Given the description of an element on the screen output the (x, y) to click on. 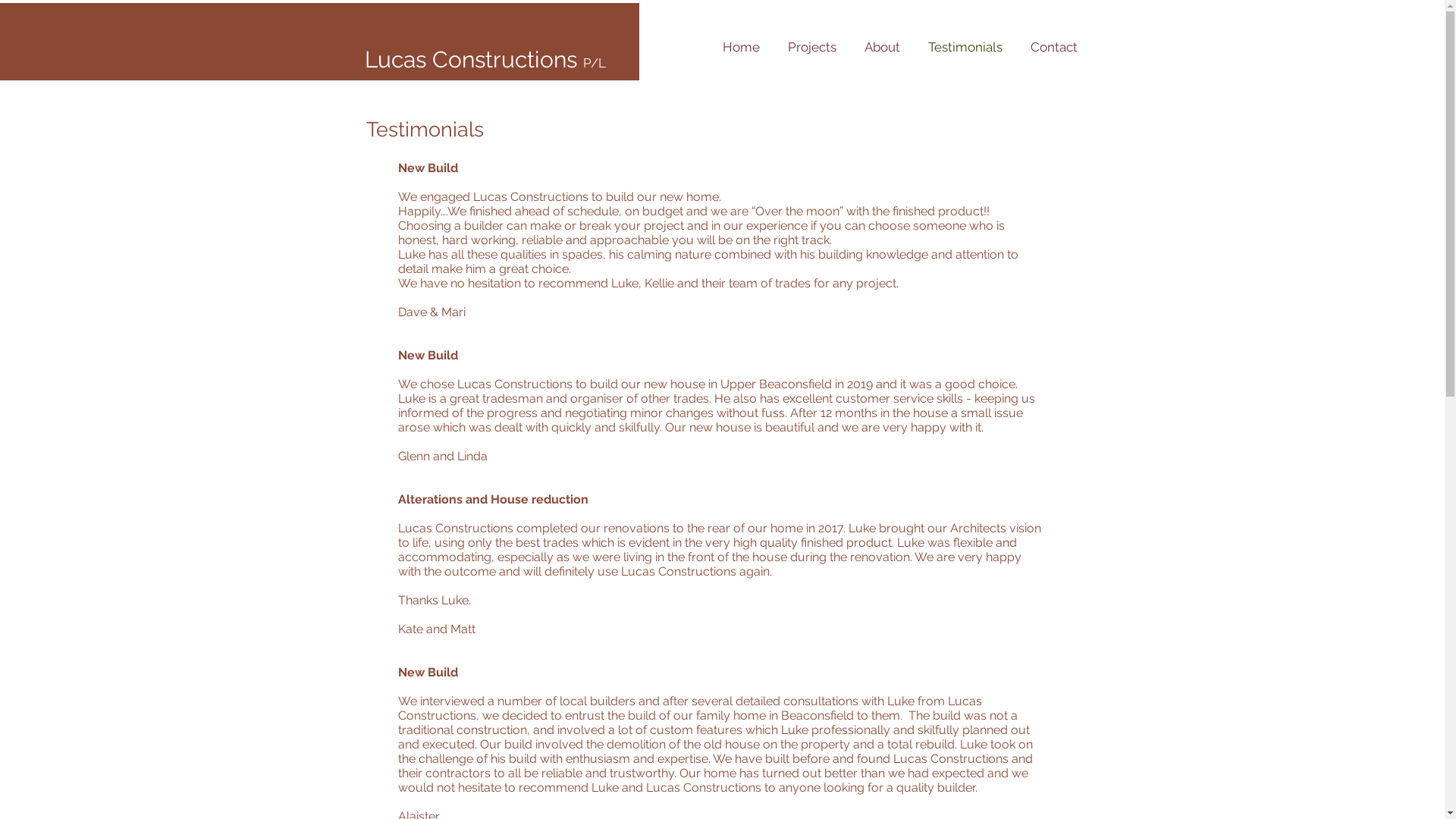
About Element type: text (882, 46)
Projects Element type: text (811, 46)
Home Element type: text (741, 46)
Contact Element type: text (1053, 46)
Testimonials Element type: text (965, 46)
